Given the description of an element on the screen output the (x, y) to click on. 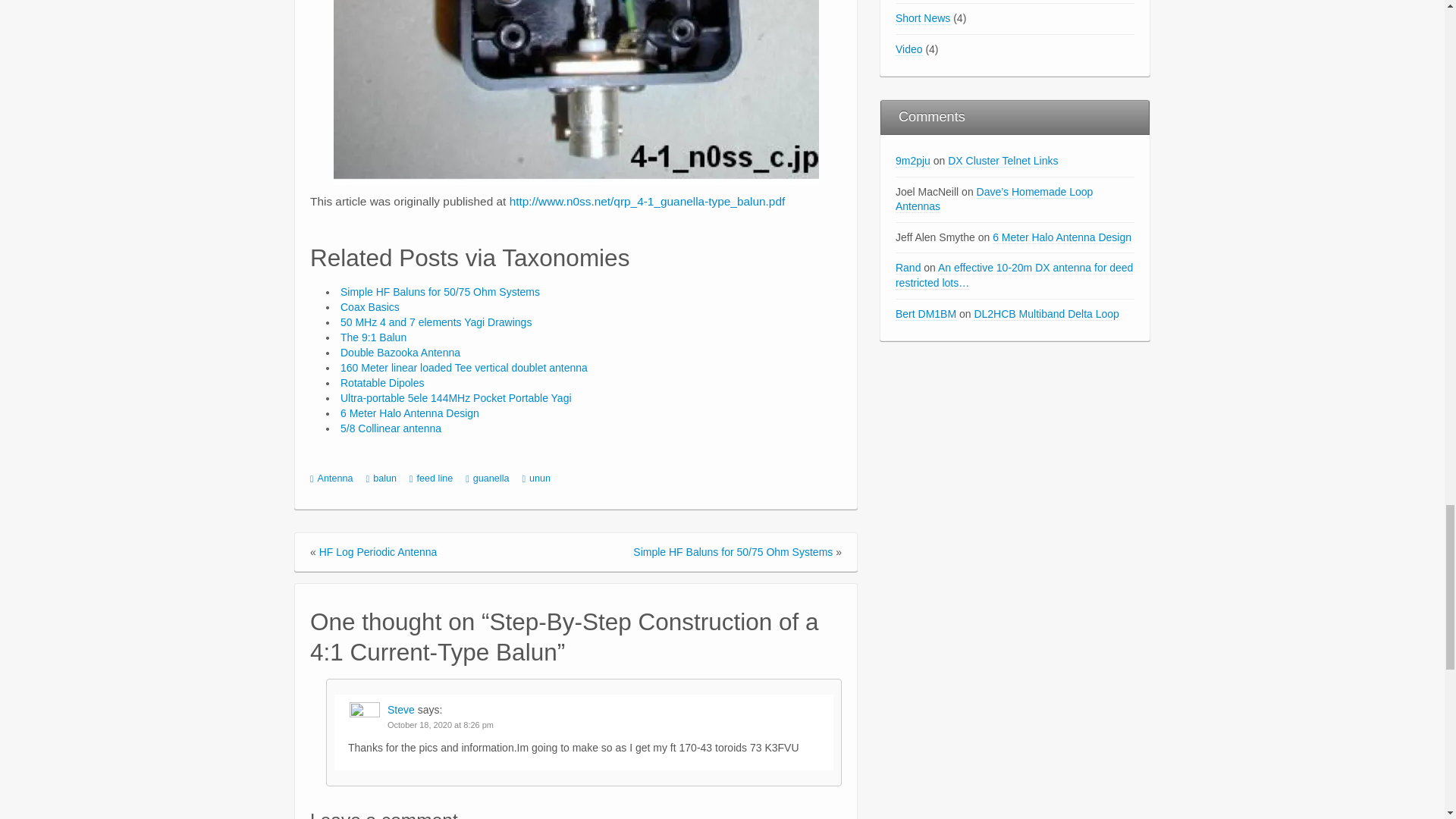
50 MHz 4 and 7 elements Yagi Drawings (435, 322)
160 Meter linear loaded Tee vertical doublet antenna (464, 367)
Double Bazooka Antenna (400, 352)
The 9:1 Balun (373, 337)
Coax Basics (369, 306)
